Given the description of an element on the screen output the (x, y) to click on. 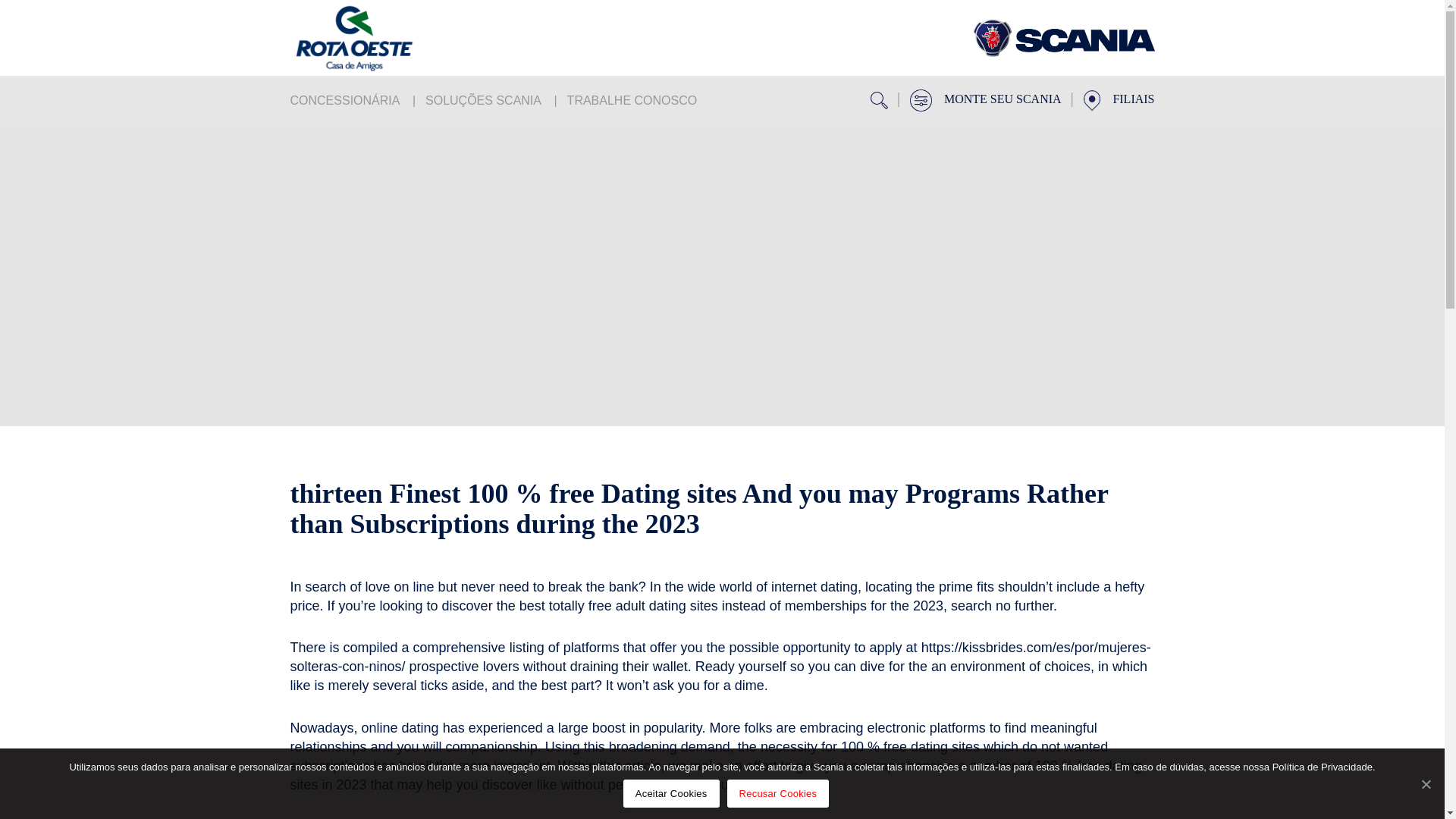
Rota Oeste (1063, 38)
Rota Oeste (380, 38)
